Given the description of an element on the screen output the (x, y) to click on. 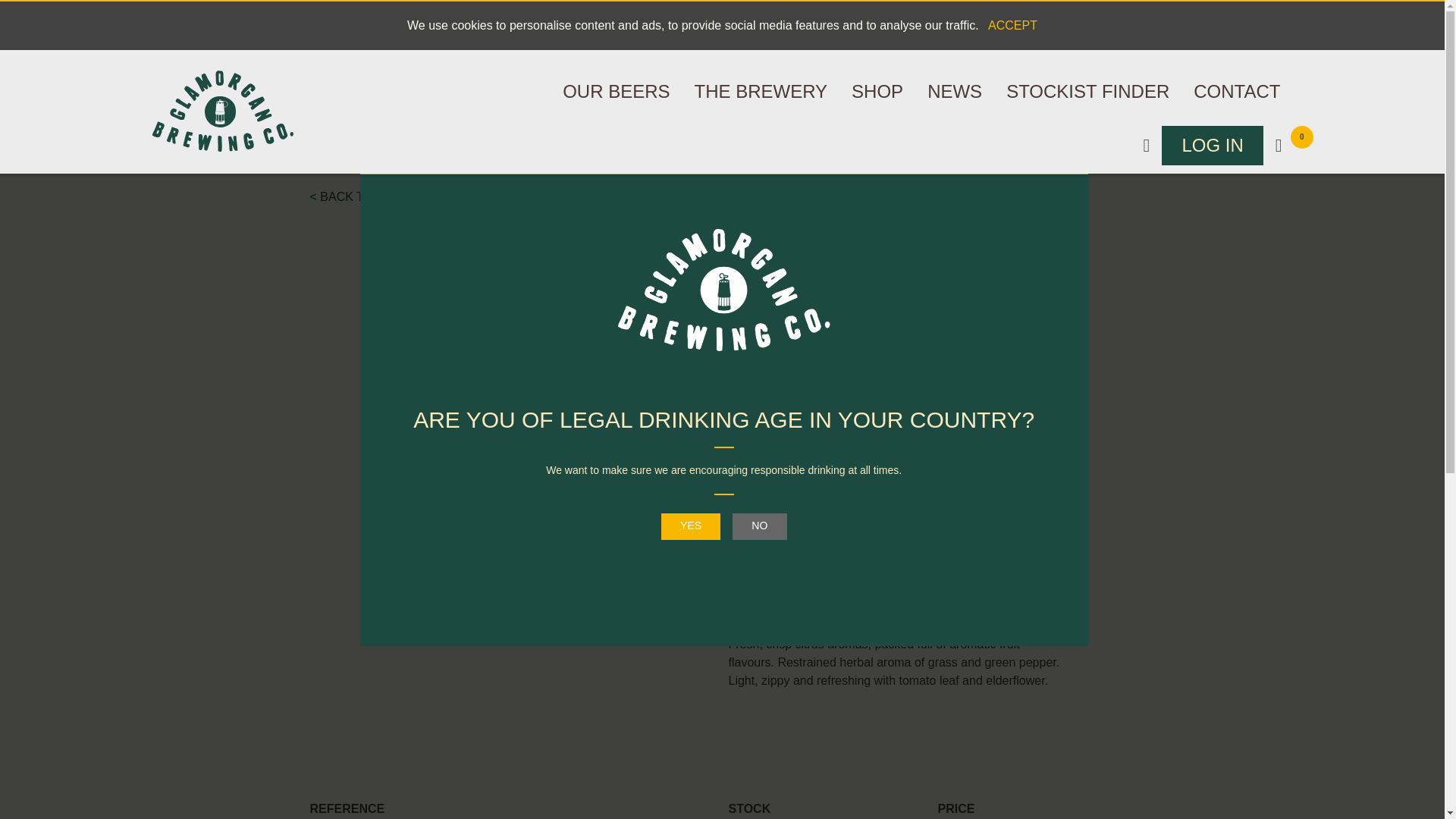
THE BREWERY (761, 91)
NEWS (954, 91)
LOG IN (1211, 145)
No (759, 526)
SHOP (877, 91)
OUR BEERS (615, 91)
Yes (690, 526)
STOCKIST FINDER (1087, 91)
CONTACT (1236, 91)
